Given the description of an element on the screen output the (x, y) to click on. 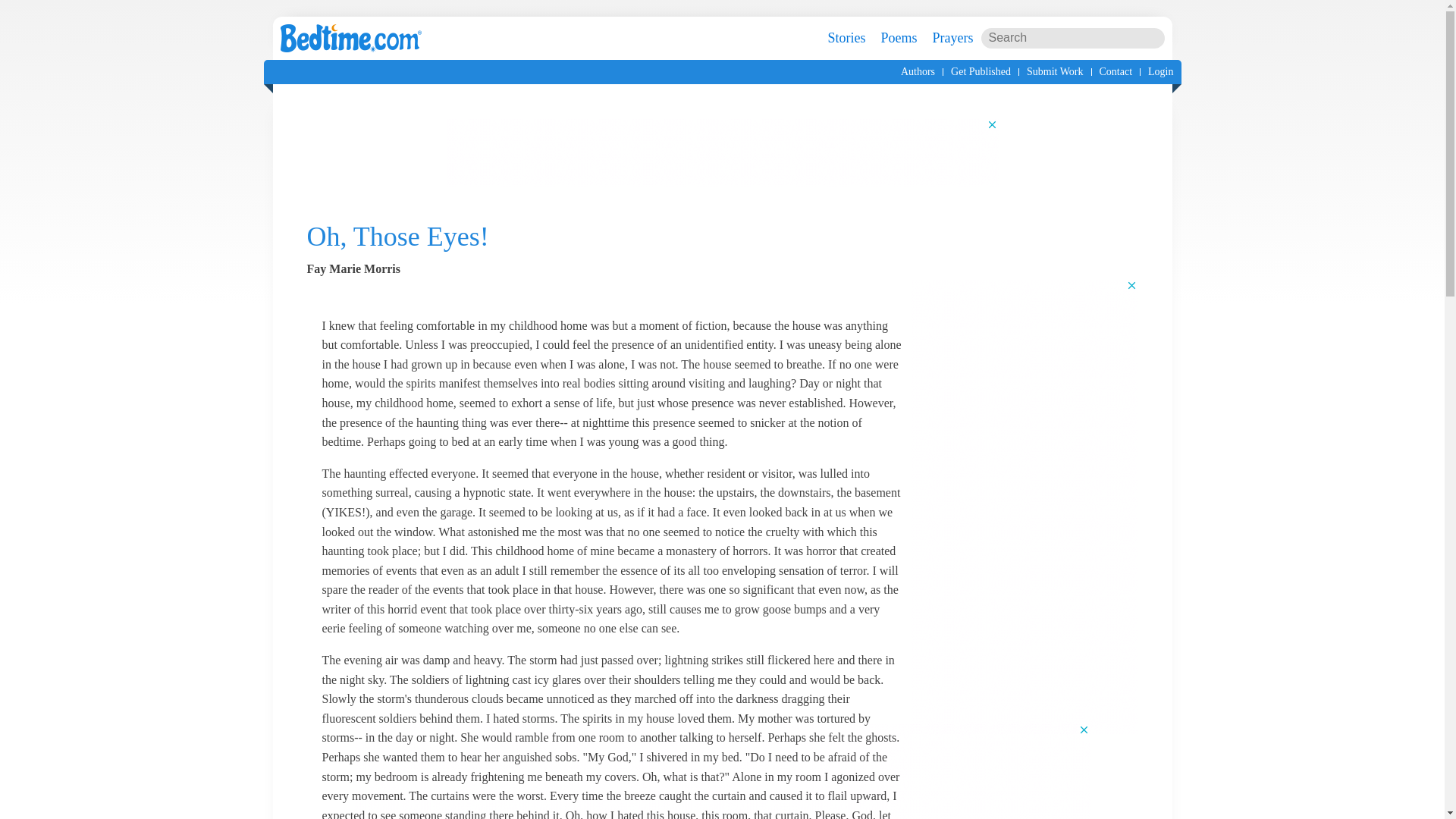
Contact (1115, 71)
Login (1160, 71)
3rd party ad content (722, 771)
Authors (917, 71)
3rd party ad content (721, 151)
Poems (898, 38)
Search (1152, 41)
Stories (845, 38)
Search (1152, 41)
Submit Work (1054, 71)
Get Published (980, 71)
Prayers (953, 38)
